Given the description of an element on the screen output the (x, y) to click on. 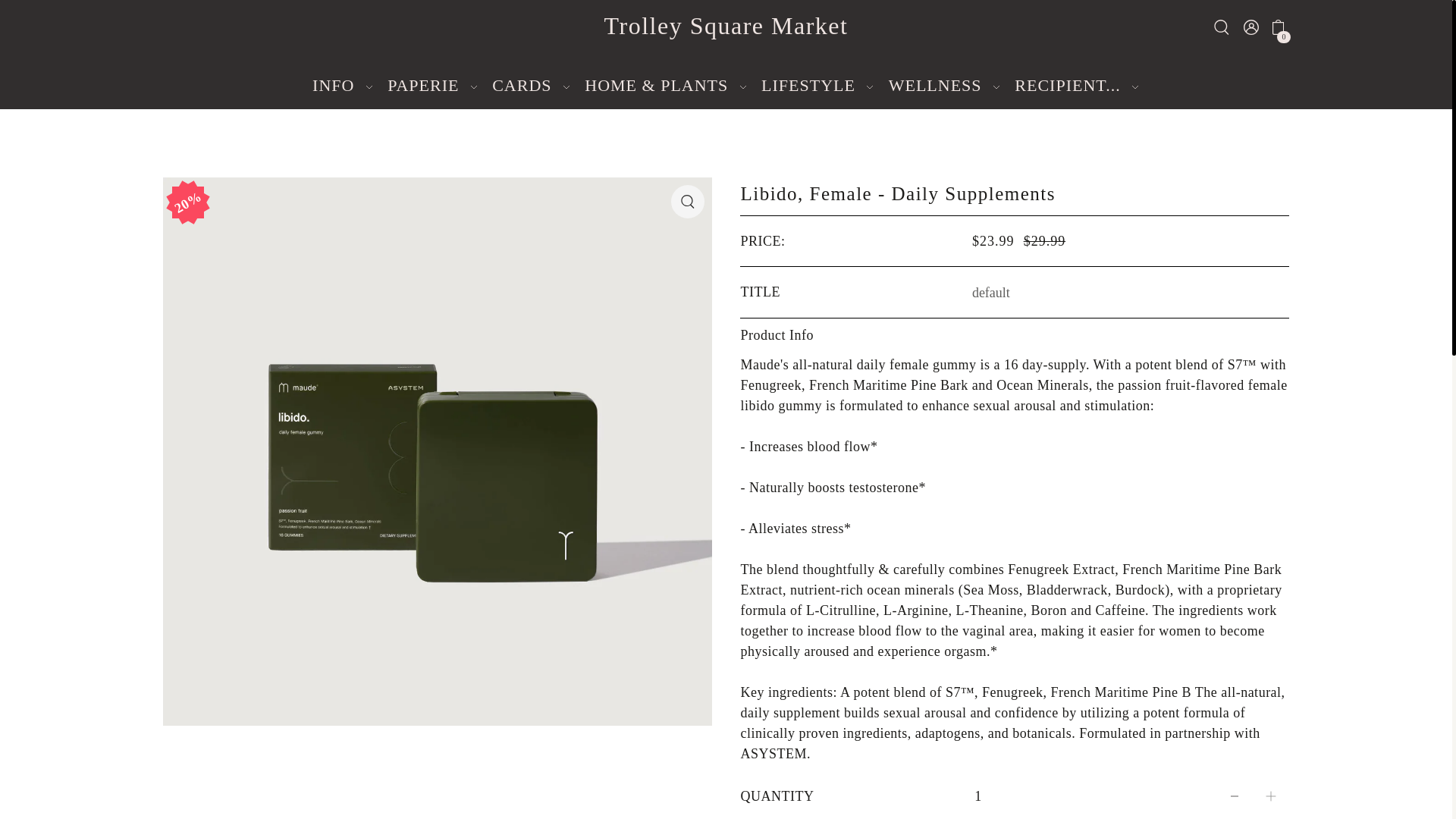
INFO (342, 85)
Trolley Square Market (726, 25)
1 (977, 796)
CARDS (530, 85)
PAPERIE (432, 85)
click to zoom-in (687, 201)
